Given the description of an element on the screen output the (x, y) to click on. 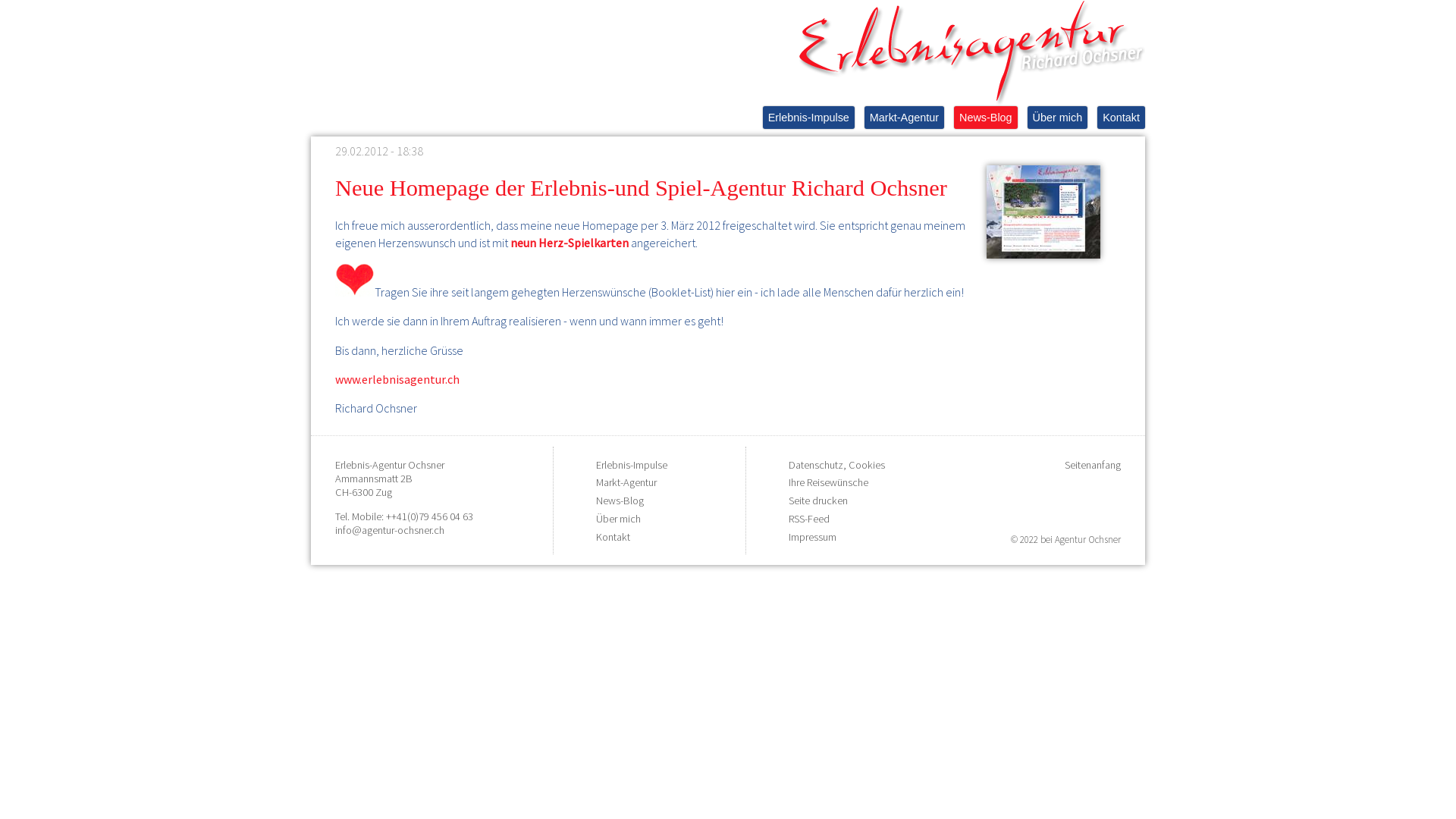
Relaunch der Homepage -  Element type: hover (1037, 210)
Datenschutz, Cookies Element type: text (836, 464)
Erlebnis-Impulse Element type: text (808, 117)
Markt-Agentur Element type: text (626, 482)
News-Blog Element type: text (985, 117)
News-Blog Element type: text (619, 500)
Erlebnis-Agentur Ochsner Element type: text (389, 464)
Kontakt Element type: text (1121, 117)
info@agentur-ochsner.ch Element type: text (389, 529)
Seite drucken Element type: text (817, 500)
Erlebnis-Impulse Element type: text (631, 464)
Markt-Agentur Element type: text (904, 117)
Seitenanfang Element type: text (1092, 464)
www.erlebnisagentur.ch Element type: text (397, 378)
RSS-Feed Element type: text (808, 518)
Kontakt Element type: text (613, 536)
Impressum Element type: text (812, 536)
